Given the description of an element on the screen output the (x, y) to click on. 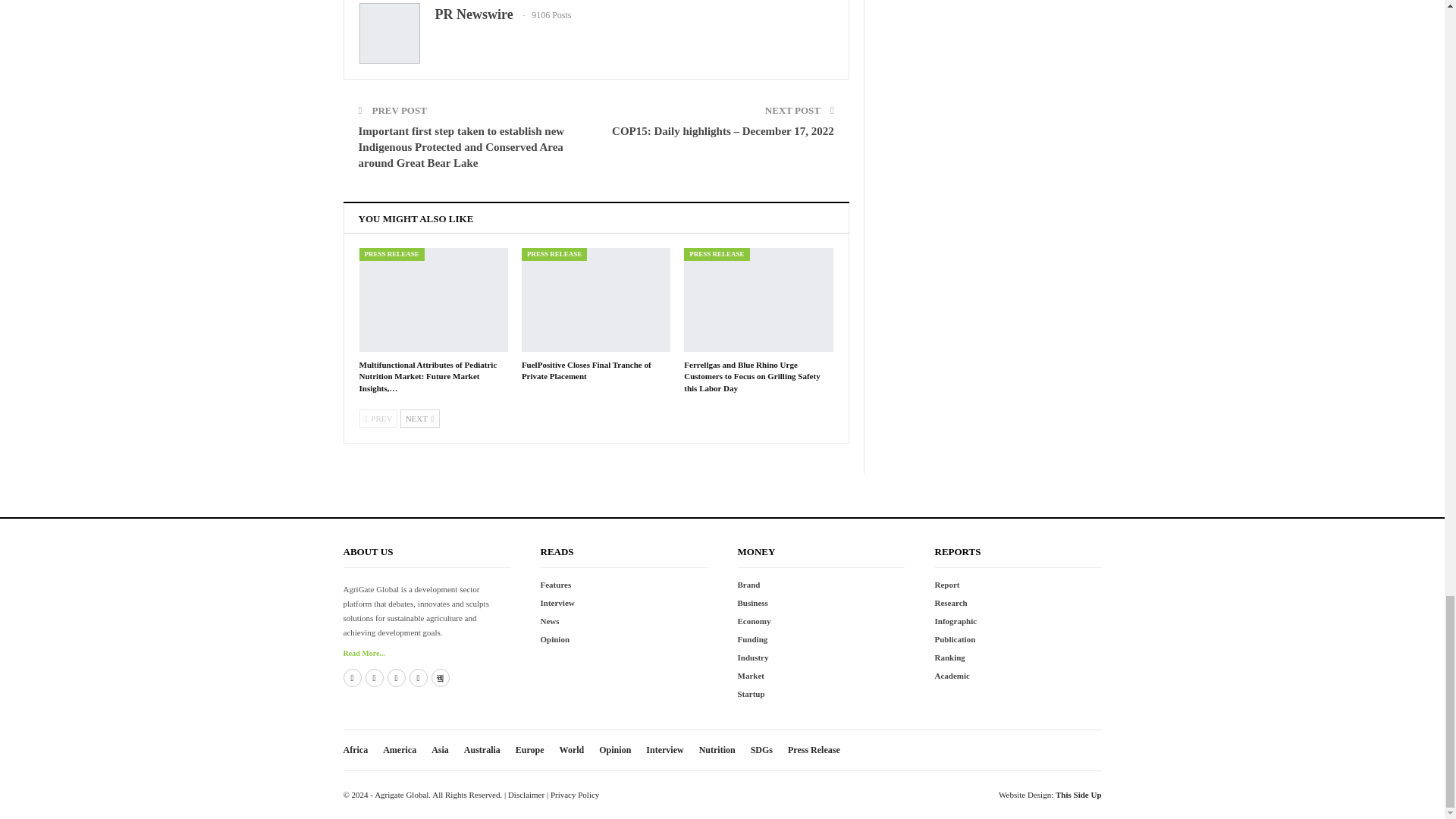
PR Newswire (474, 14)
FuelPositive Closes Final Tranche of Private Placement (595, 300)
Previous (378, 418)
FuelPositive Closes Final Tranche of Private Placement (585, 370)
